Given the description of an element on the screen output the (x, y) to click on. 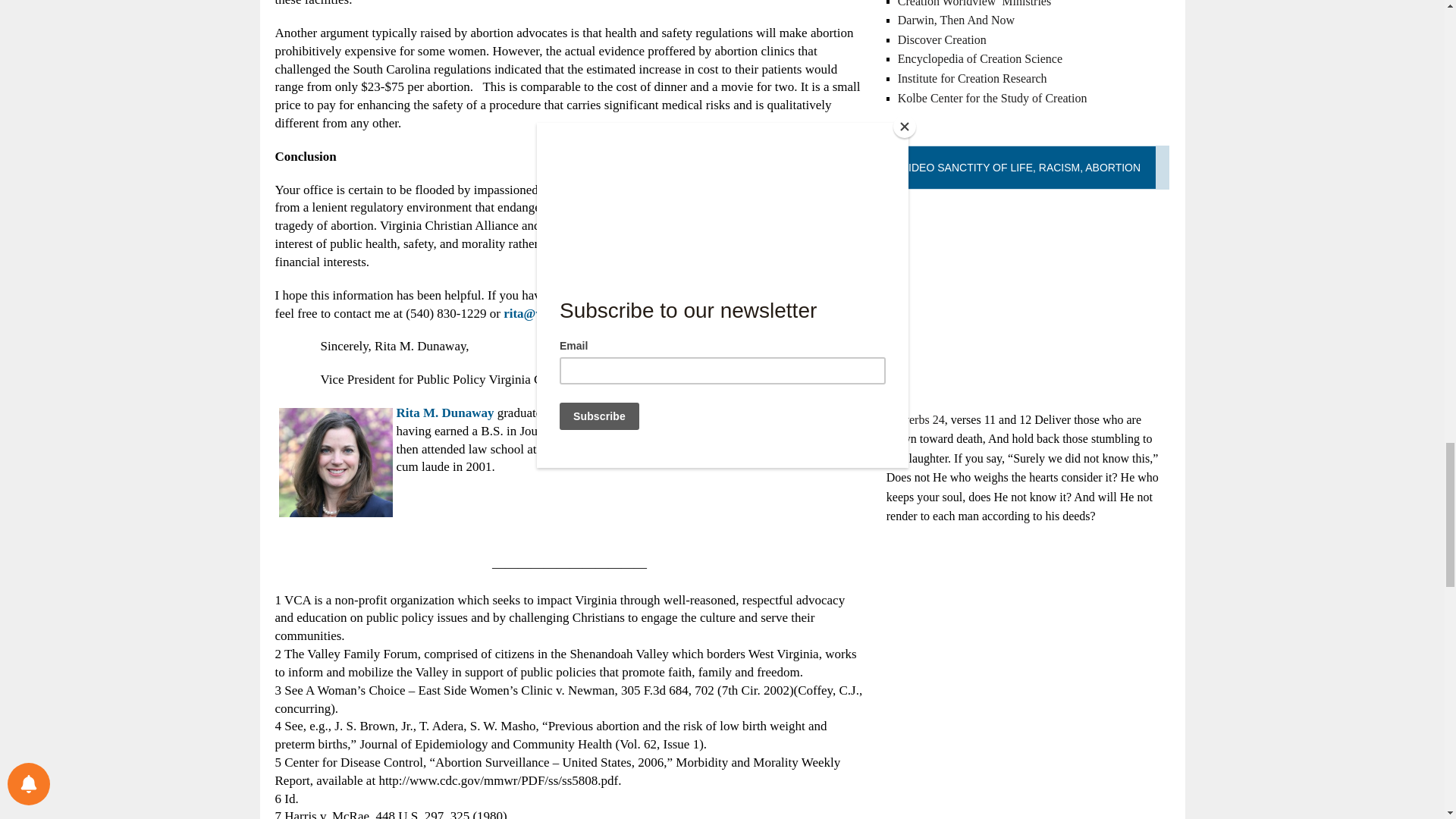
READVERSE Proverbs 24 (915, 419)
